Given the description of an element on the screen output the (x, y) to click on. 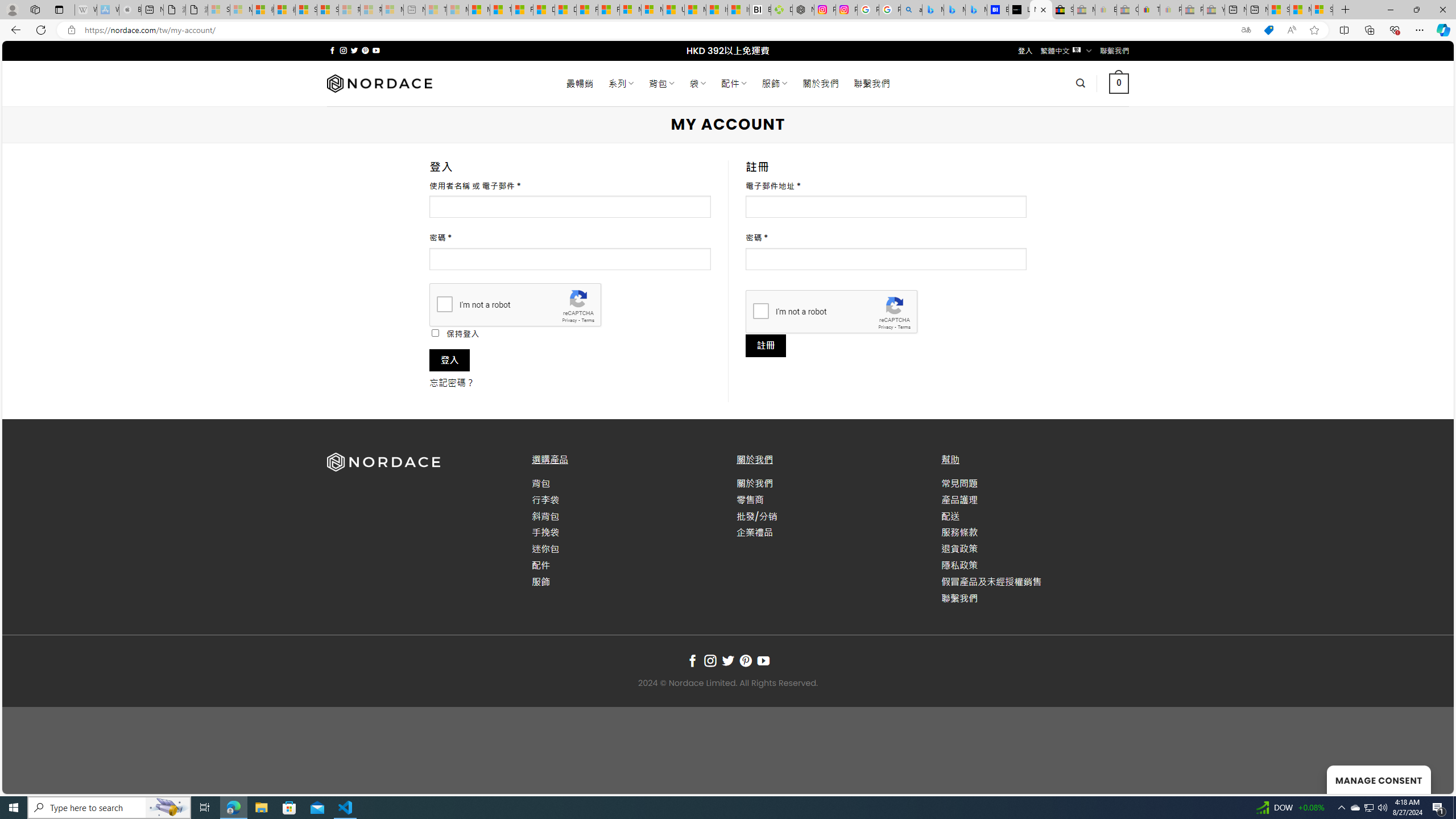
MANAGE CONSENT (1378, 779)
Top Stories - MSN - Sleeping (435, 9)
Shanghai, China hourly forecast | Microsoft Weather (1278, 9)
 0  (1118, 83)
